Given the description of an element on the screen output the (x, y) to click on. 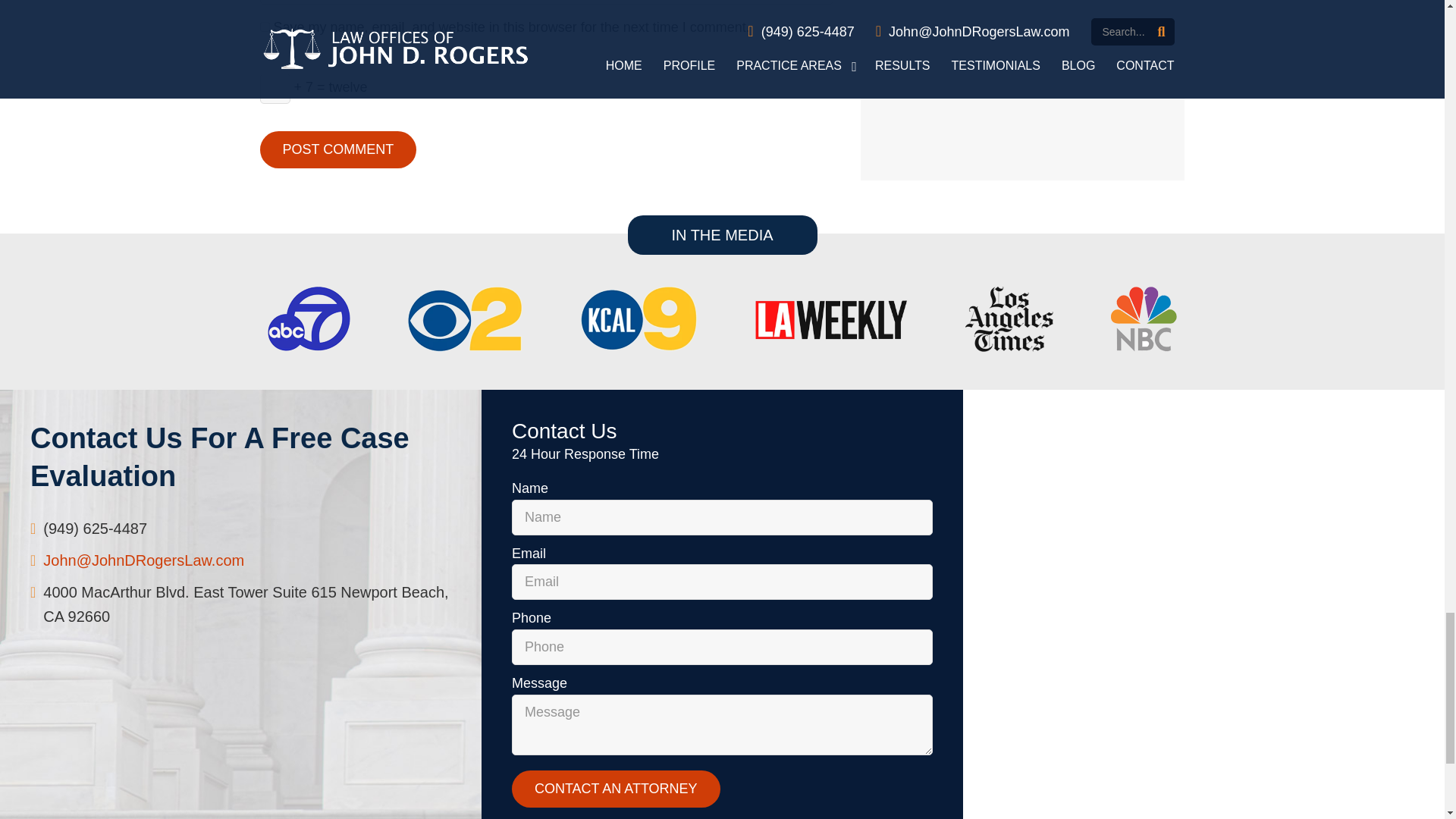
yes (264, 26)
Contact an Attorney (616, 788)
Post Comment (337, 149)
